Given the description of an element on the screen output the (x, y) to click on. 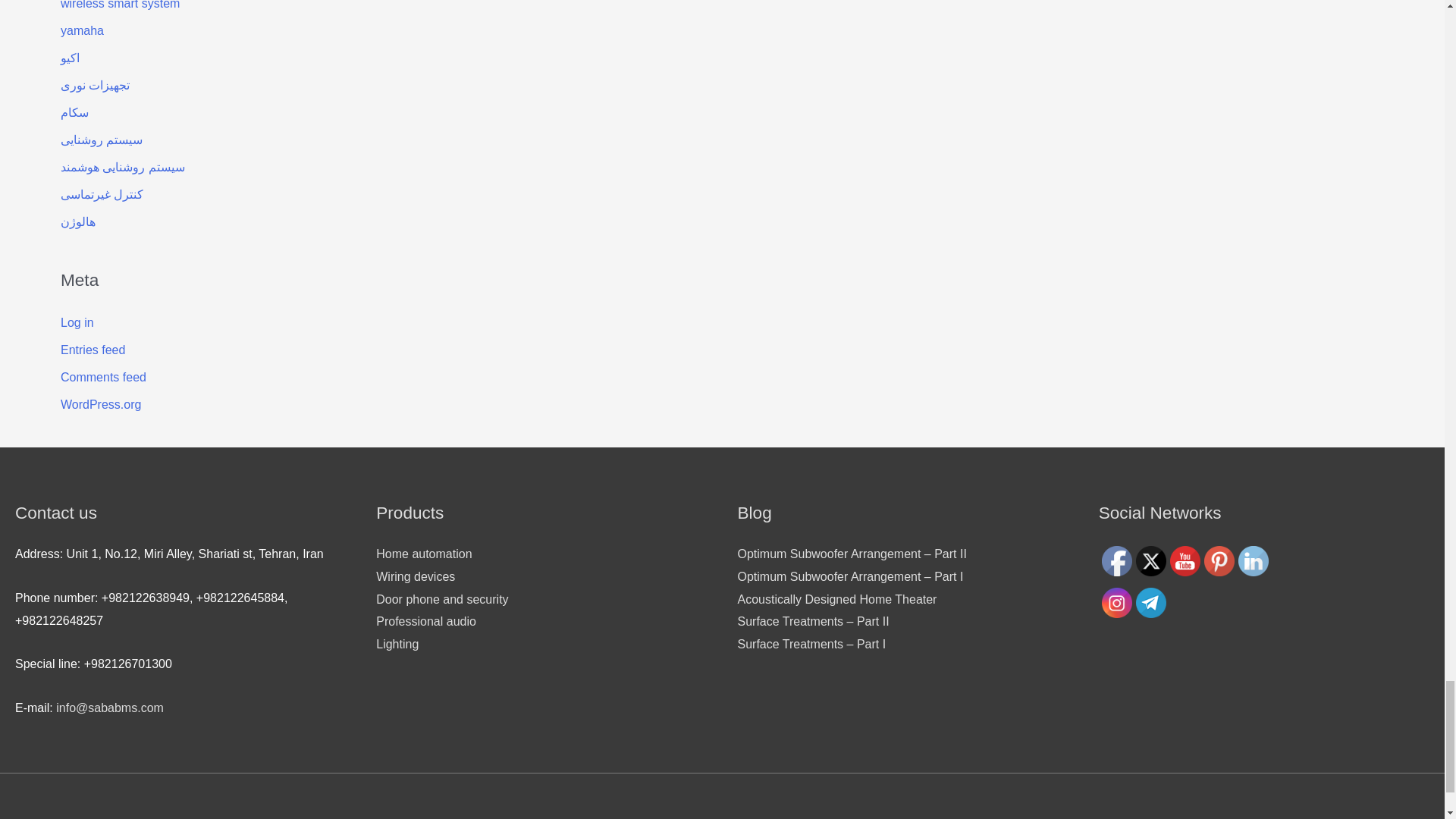
Twitter (1150, 561)
YouTube (1184, 561)
Facebook (1117, 561)
Pinterest (1219, 561)
